Given the description of an element on the screen output the (x, y) to click on. 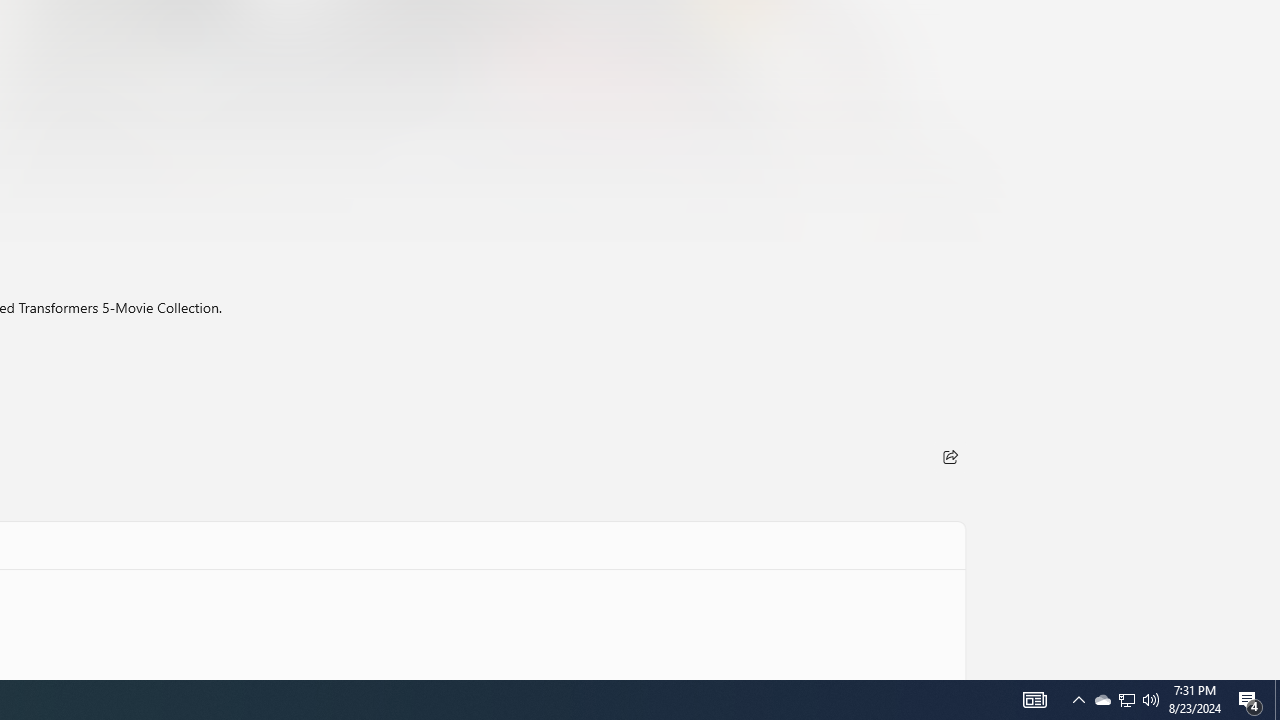
Share (950, 456)
